Given the description of an element on the screen output the (x, y) to click on. 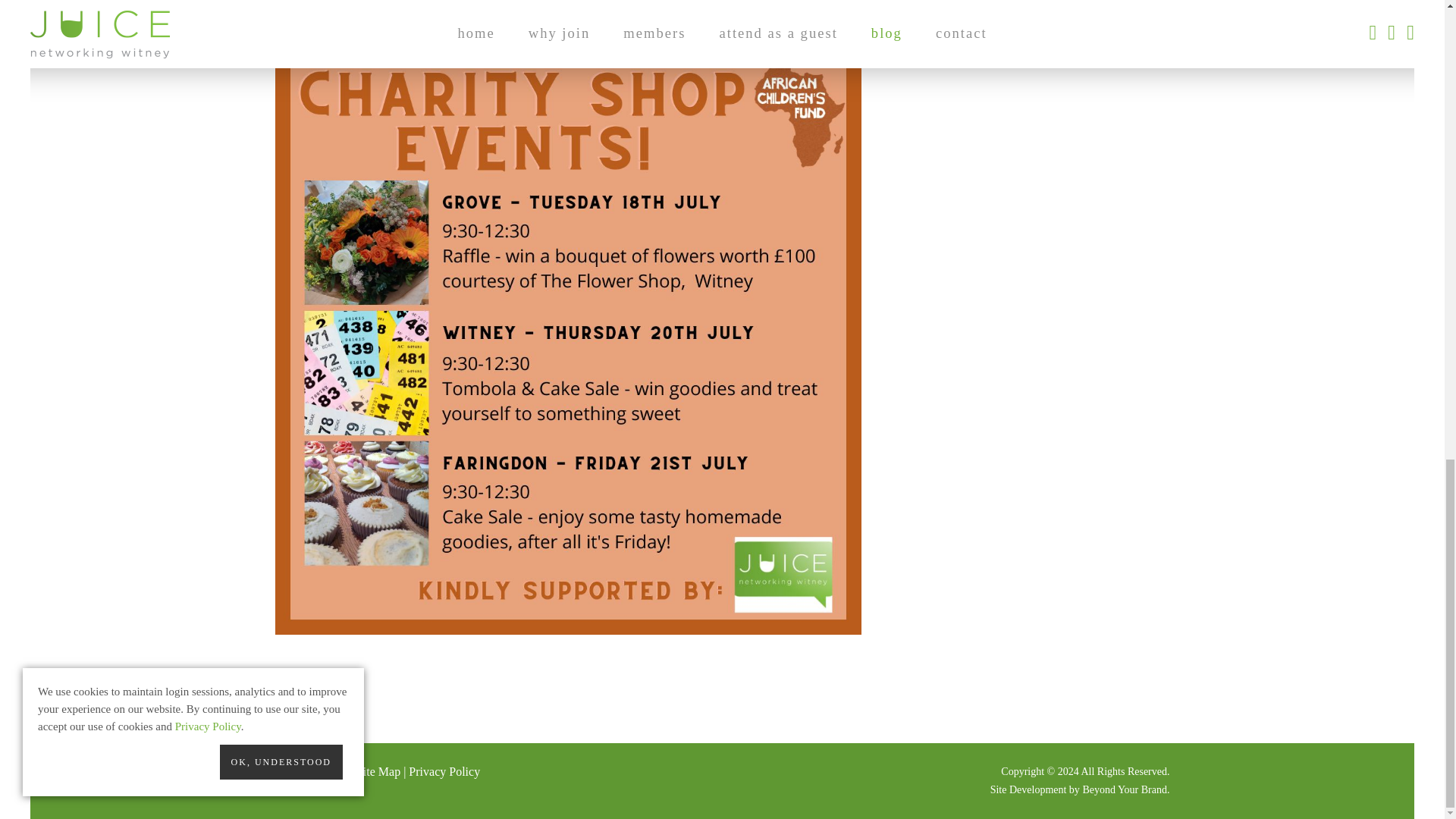
FAQs (288, 771)
Shredding Made Simple (555, 3)
Databasix (365, 3)
Site Map (378, 771)
The MGroup (553, 12)
Flory Bookkeeping (442, 3)
The Flower Shop (748, 3)
Gallery (329, 771)
Conways Commercial (552, 3)
